Given the description of an element on the screen output the (x, y) to click on. 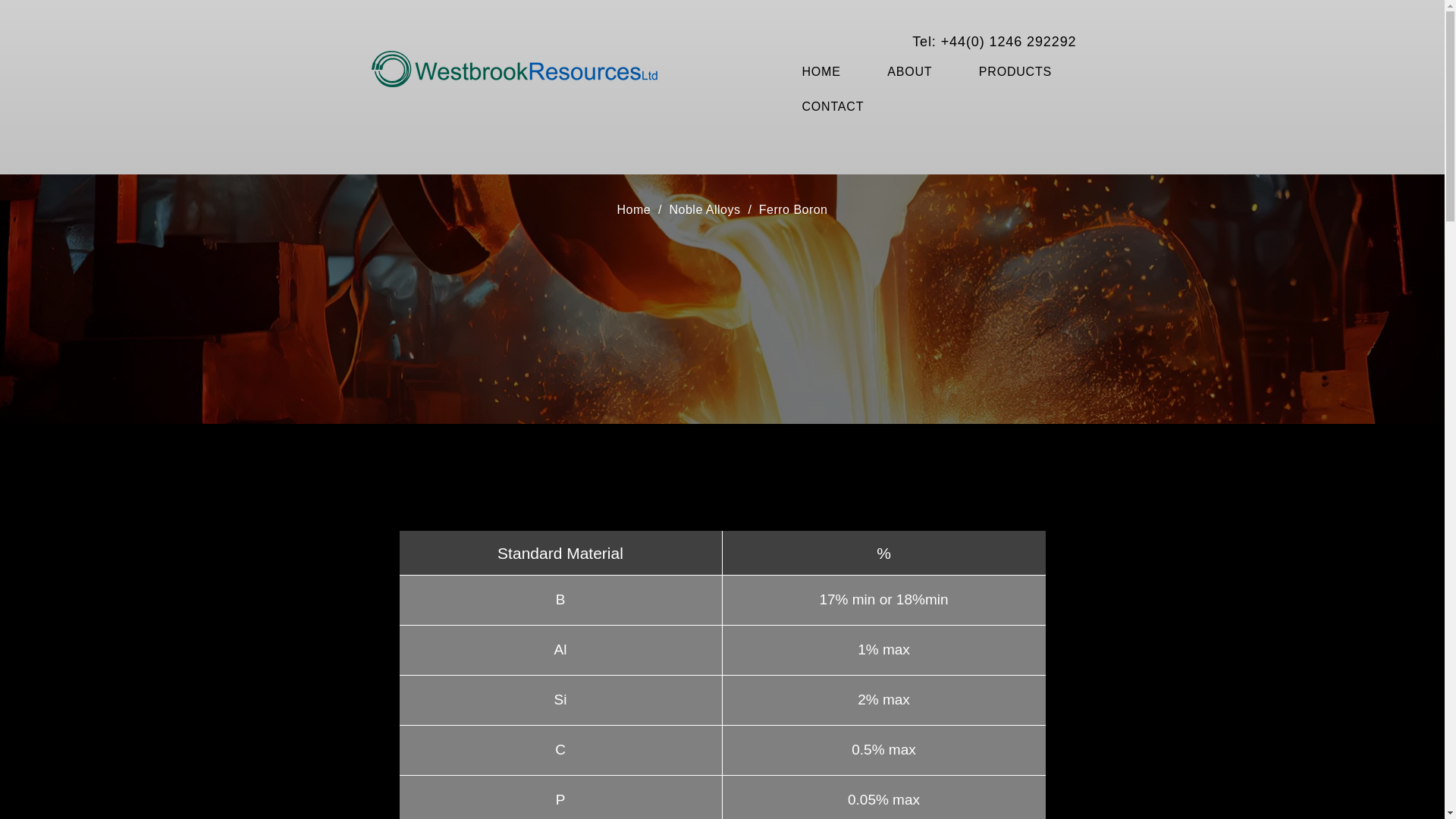
HOME (834, 71)
ABOUT (922, 71)
